Given the description of an element on the screen output the (x, y) to click on. 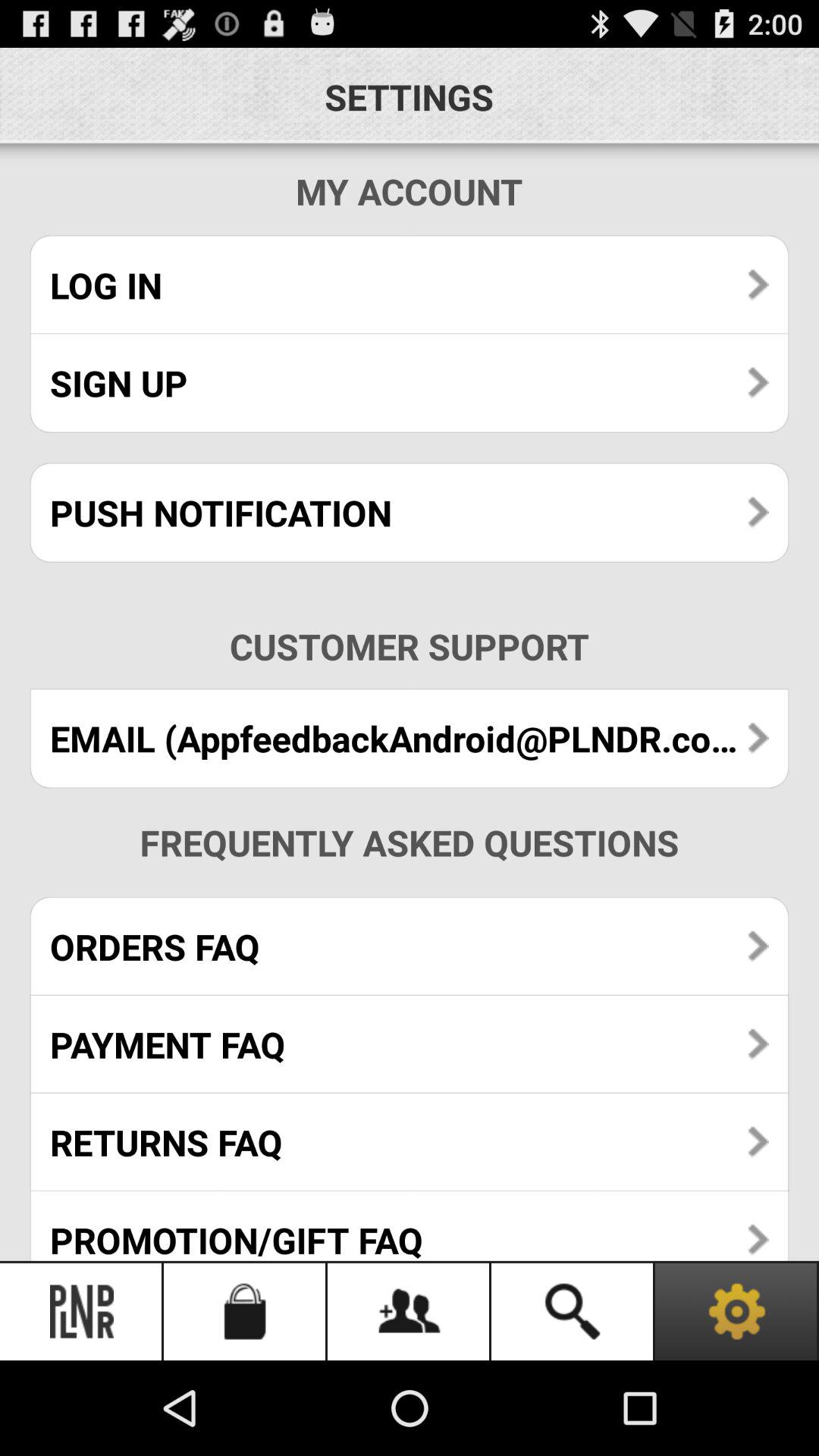
turn off the push notification (409, 512)
